Given the description of an element on the screen output the (x, y) to click on. 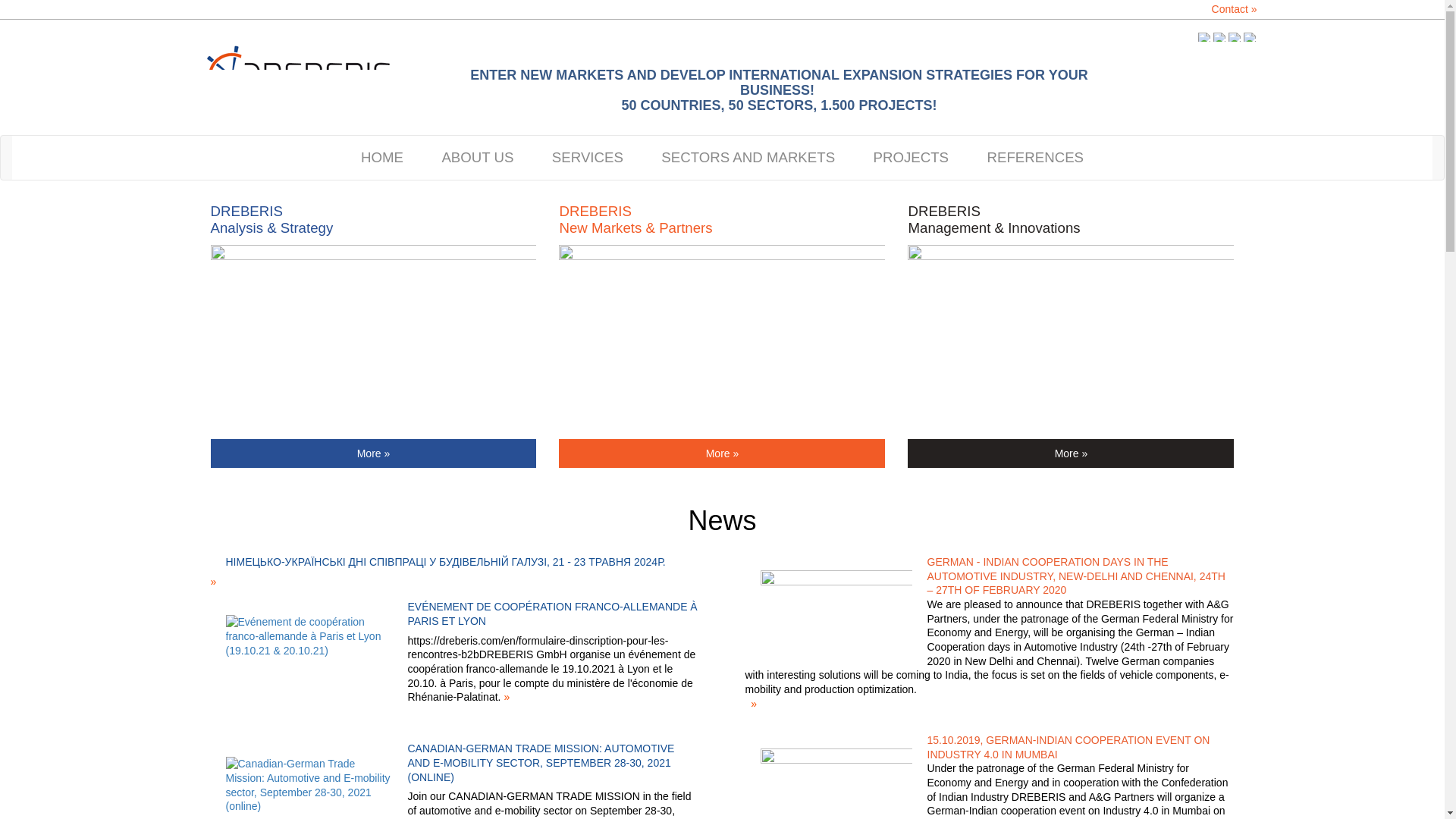
Home (305, 76)
SERVICES (587, 157)
Deutsch (1218, 36)
HOME (381, 157)
PROJECTS (910, 157)
ABOUT US (476, 157)
SECTORS AND MARKETS (747, 157)
Polski (1234, 36)
REFERENCES (1035, 157)
English (1203, 36)
